Given the description of an element on the screen output the (x, y) to click on. 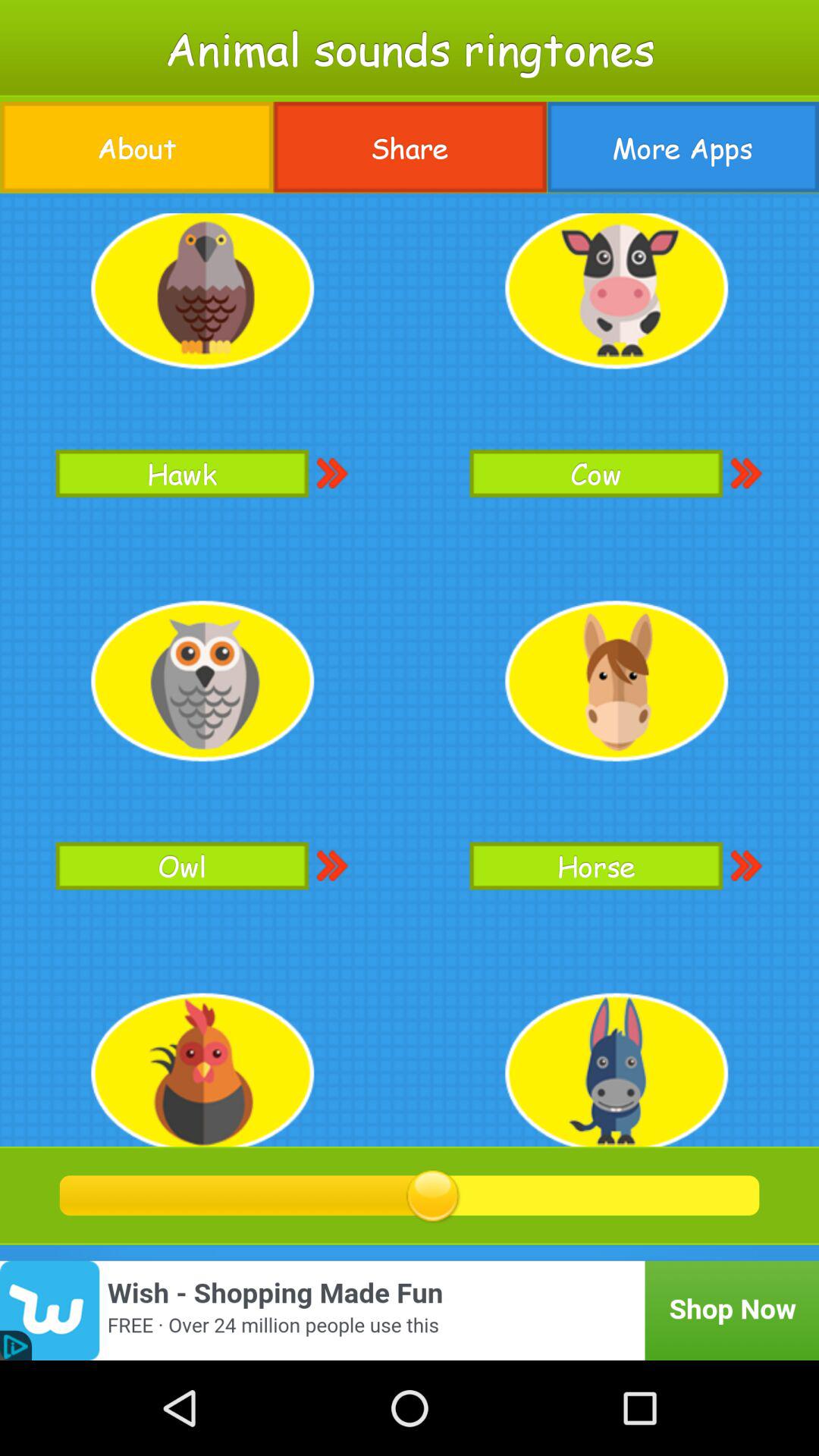
turn off the item to the right of the about (409, 147)
